Given the description of an element on the screen output the (x, y) to click on. 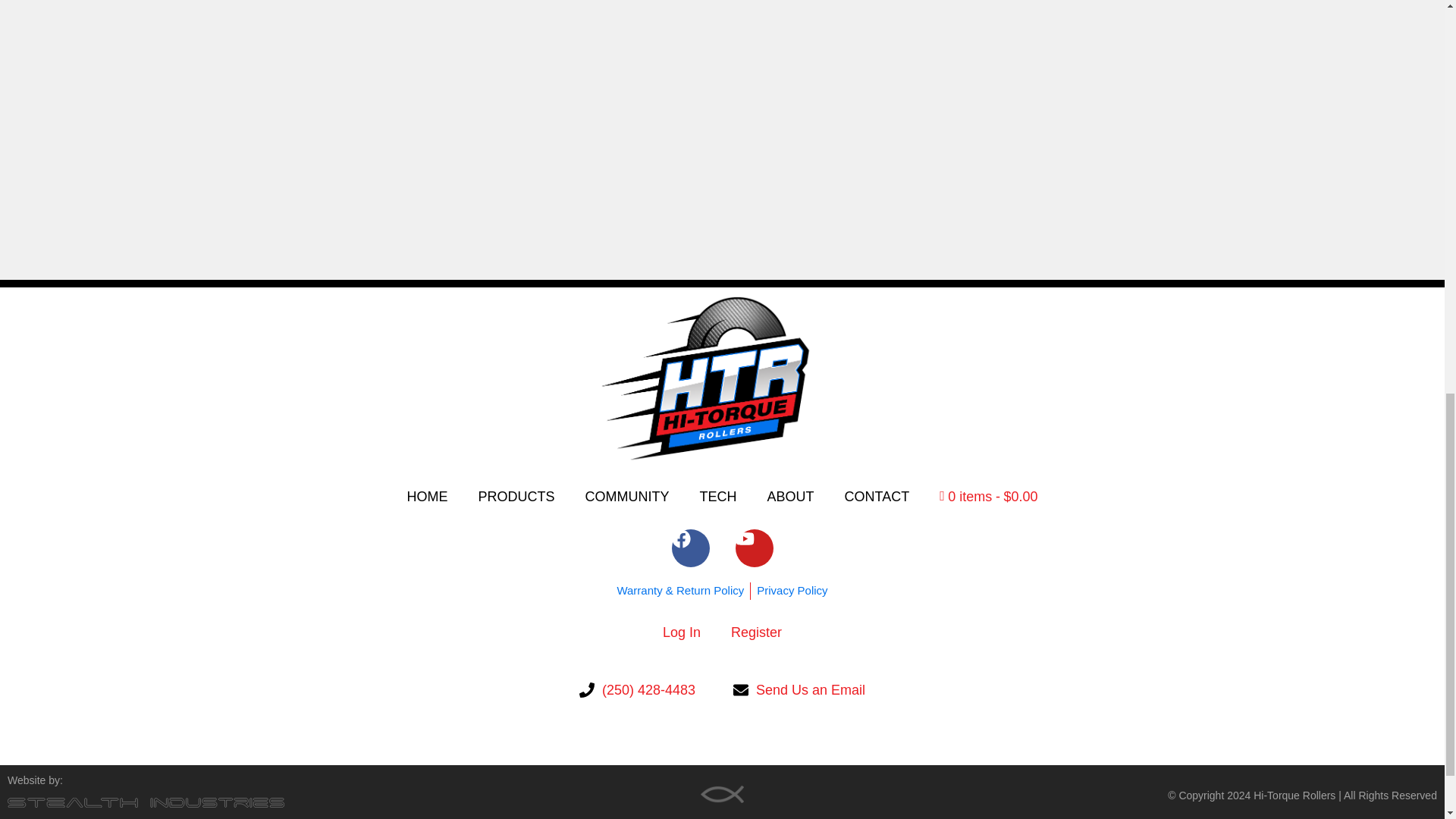
Start shopping (988, 496)
